Given the description of an element on the screen output the (x, y) to click on. 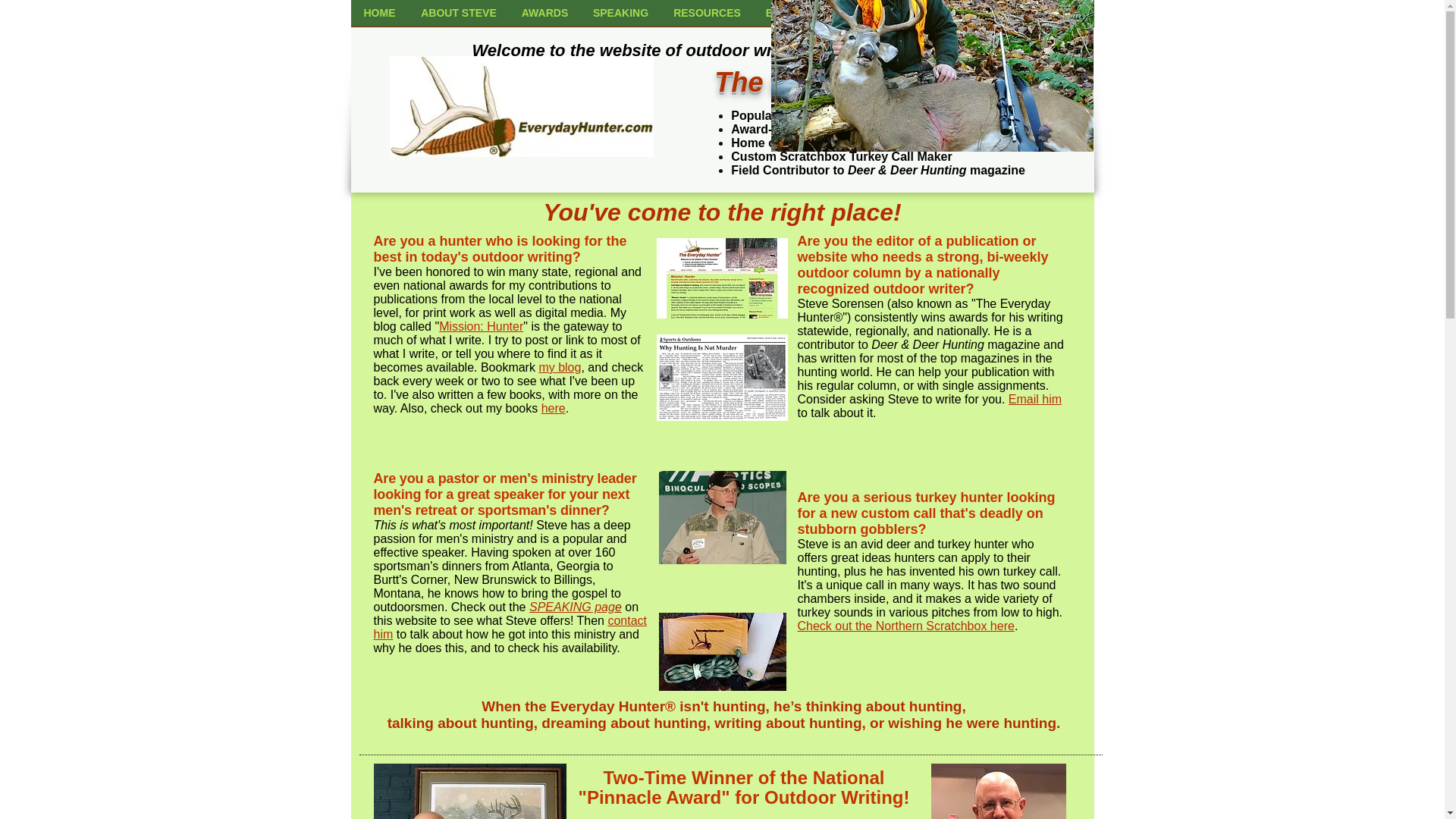
RESOURCES (707, 18)
CWD (942, 18)
FOLLOW (1003, 18)
Email him (1035, 399)
HOME (378, 18)
BOOKS (785, 18)
Mission: Hunter (480, 326)
TURKEY CALL (866, 18)
POMA2018AwardsSteve-1.jpg (998, 791)
my blog (559, 367)
EHLogoColorWide-Small.jpg (521, 106)
AWARDS (544, 18)
ABOUT STEVE (457, 18)
BLOG (1066, 18)
SPEAKING (620, 18)
